Given the description of an element on the screen output the (x, y) to click on. 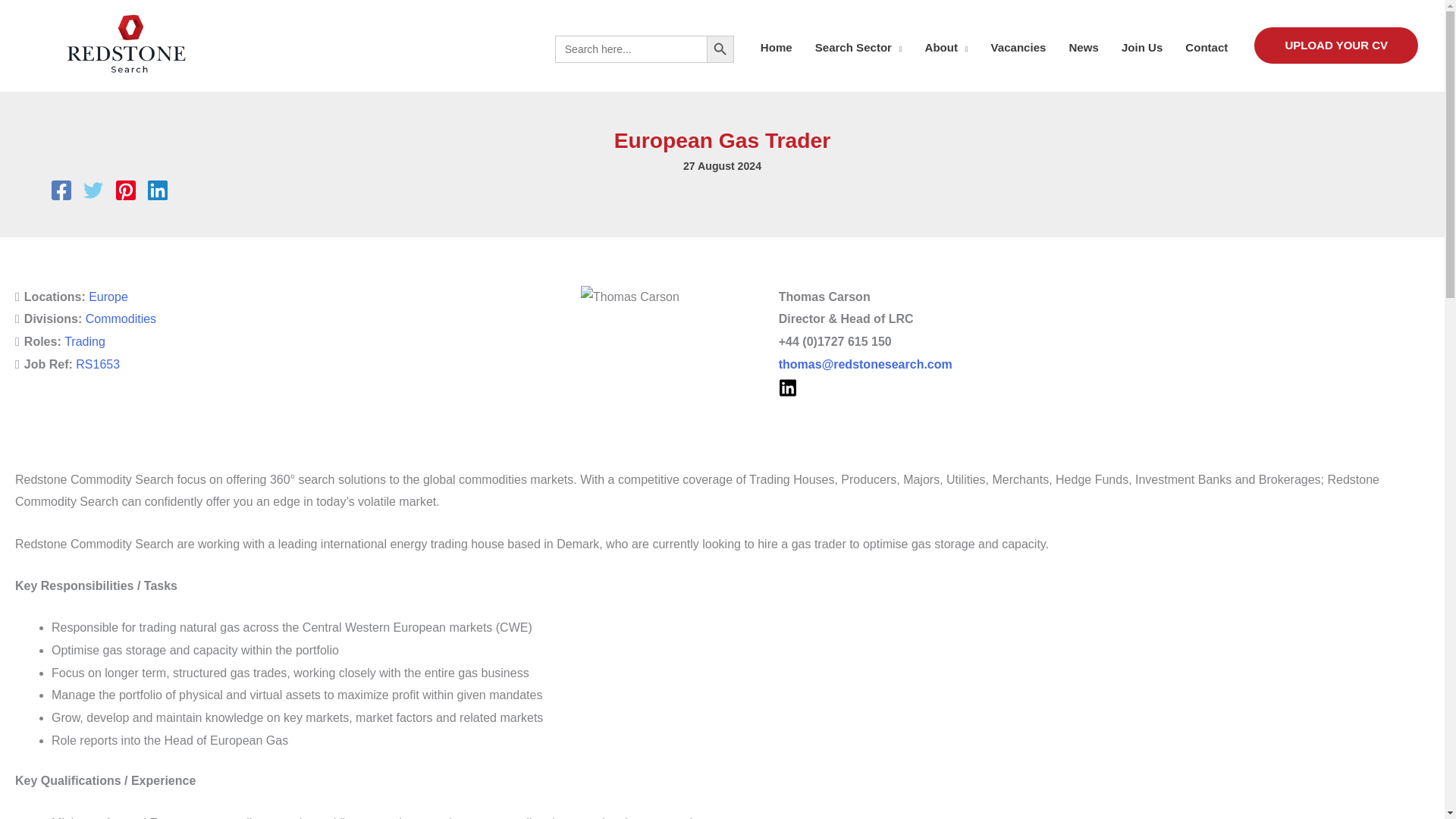
Vacancies (1018, 47)
About (945, 47)
Join Us (1141, 47)
About (945, 47)
Contact (1206, 47)
Search Sector (858, 47)
News (1083, 47)
Vacancies (1018, 47)
UPLOAD YOUR CV (1335, 45)
Search Button (719, 49)
